Given the description of an element on the screen output the (x, y) to click on. 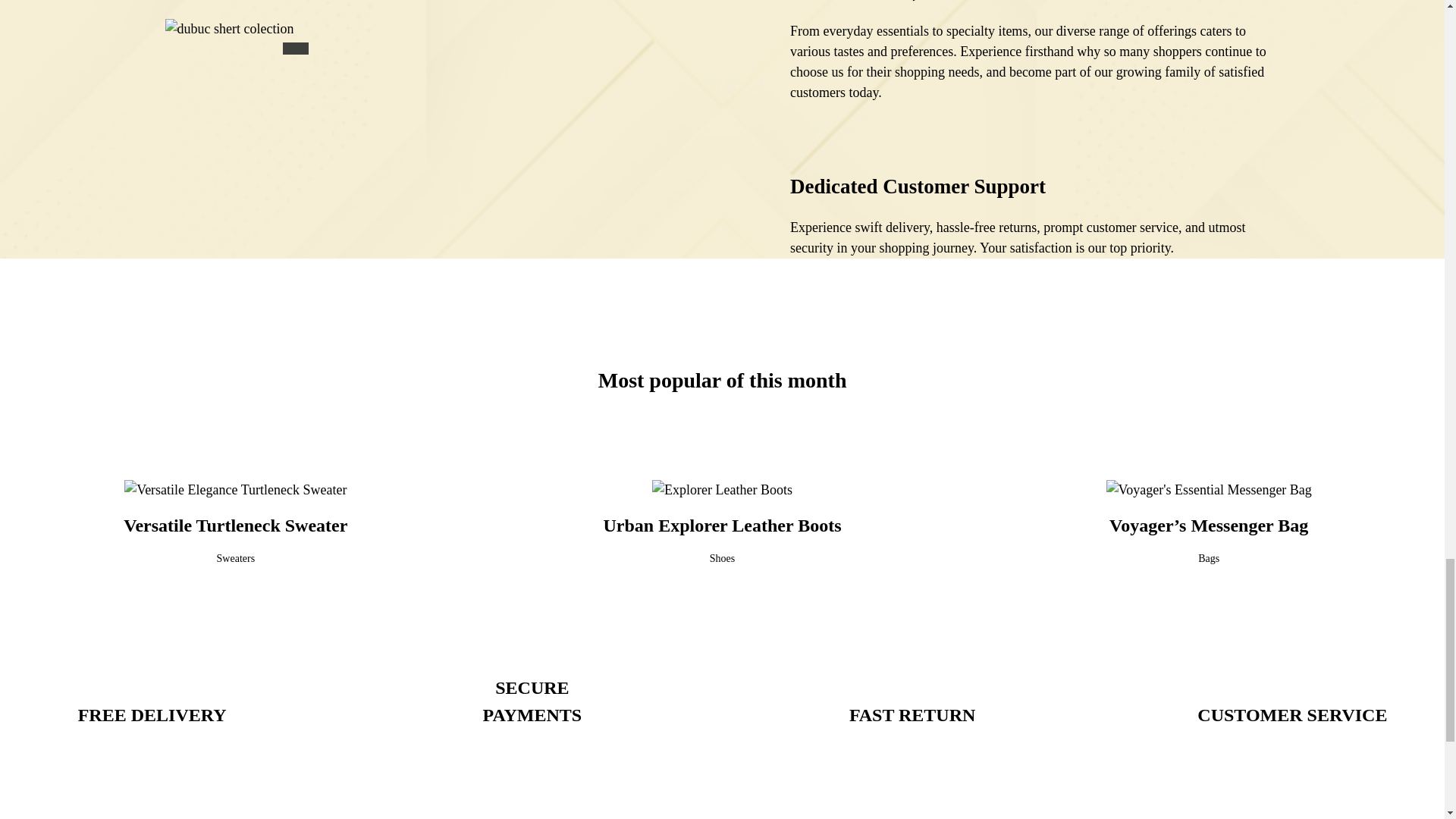
Shoes (722, 558)
Bags (1209, 558)
Sweaters (236, 558)
Urban Explorer Leather Boots (722, 525)
Versatile Turtleneck Sweater (235, 525)
